Given the description of an element on the screen output the (x, y) to click on. 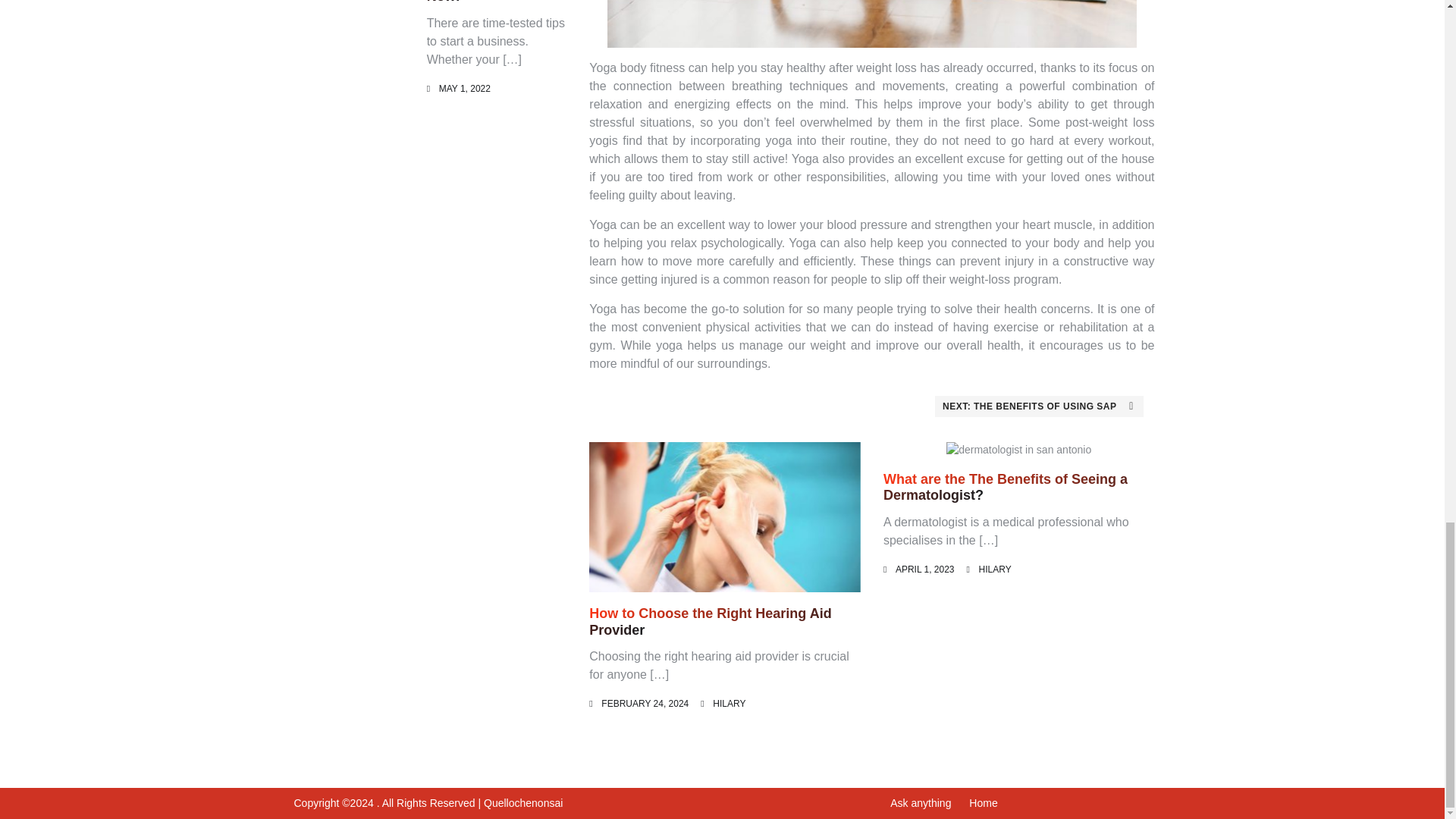
APRIL 1, 2023 (925, 569)
How to Choose the Right Hearing Aid Provider (710, 622)
HILARY (729, 703)
What are the The Benefits of Seeing a Dermatologist? (1004, 487)
HILARY (994, 569)
Home (982, 802)
MAY 1, 2022 (464, 88)
NEXT: THE BENEFITS OF USING SAP (1038, 405)
Business 101: Start Your Own Business Now! (490, 2)
Ask anything (920, 802)
